Given the description of an element on the screen output the (x, y) to click on. 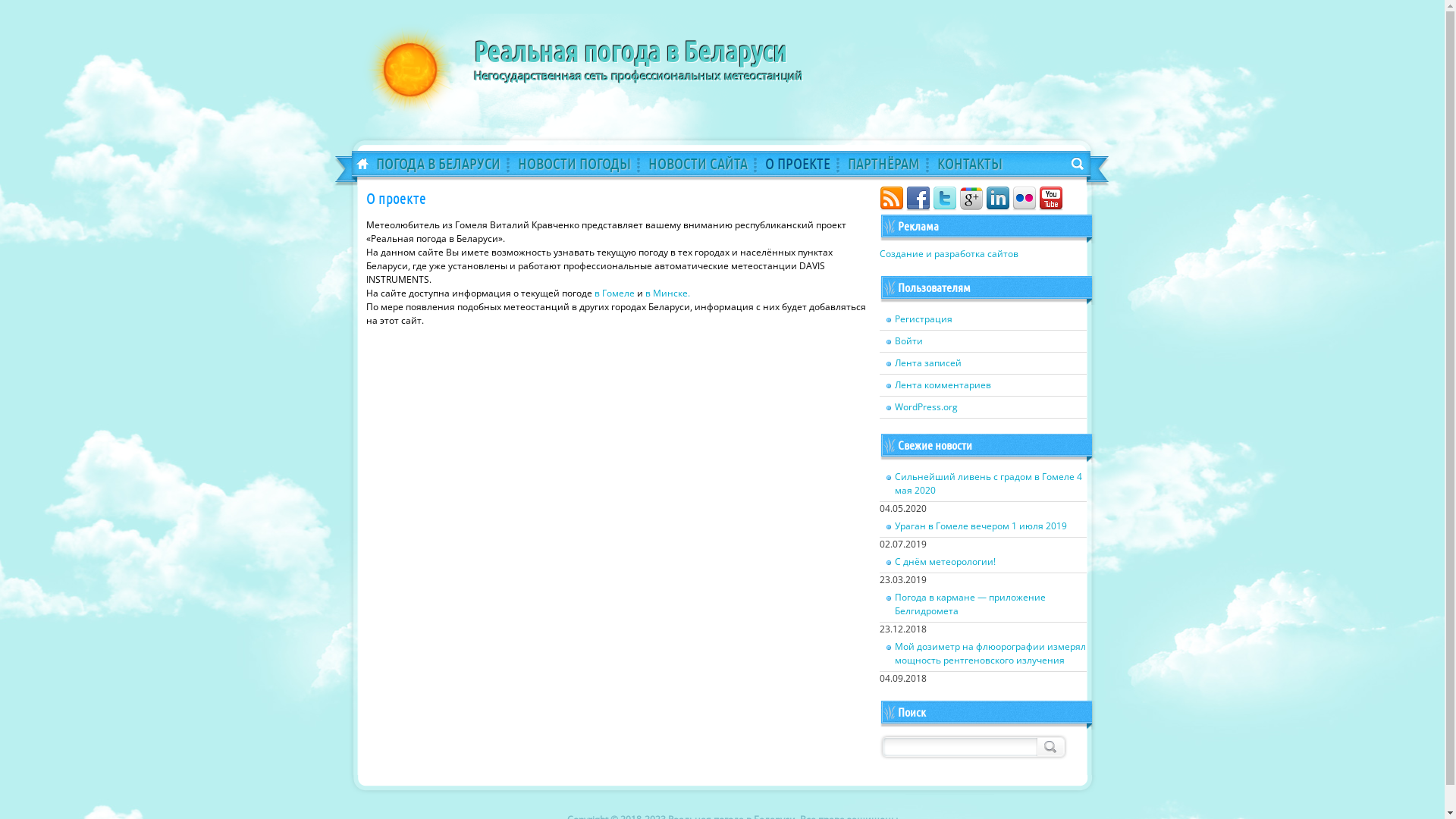
WordPress.org Element type: text (982, 407)
